Given the description of an element on the screen output the (x, y) to click on. 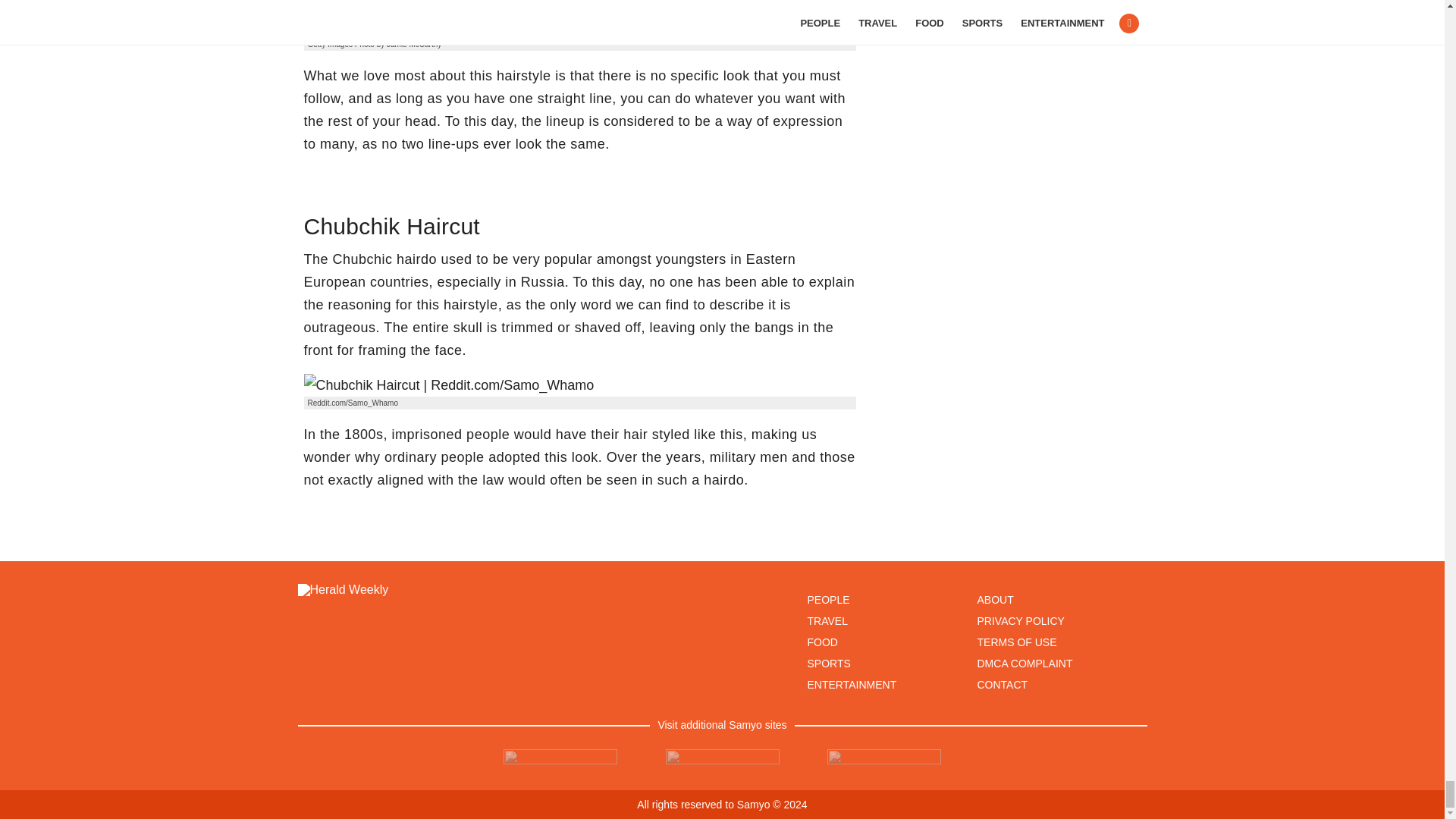
PRIVACY POLICY (1020, 621)
DMCA COMPLAINT (1023, 663)
FOOD (821, 642)
ABOUT (994, 599)
SPORTS (828, 663)
TRAVEL (826, 621)
CONTACT (1001, 684)
PEOPLE (827, 599)
ENTERTAINMENT (851, 684)
TERMS OF USE (1016, 642)
